Given the description of an element on the screen output the (x, y) to click on. 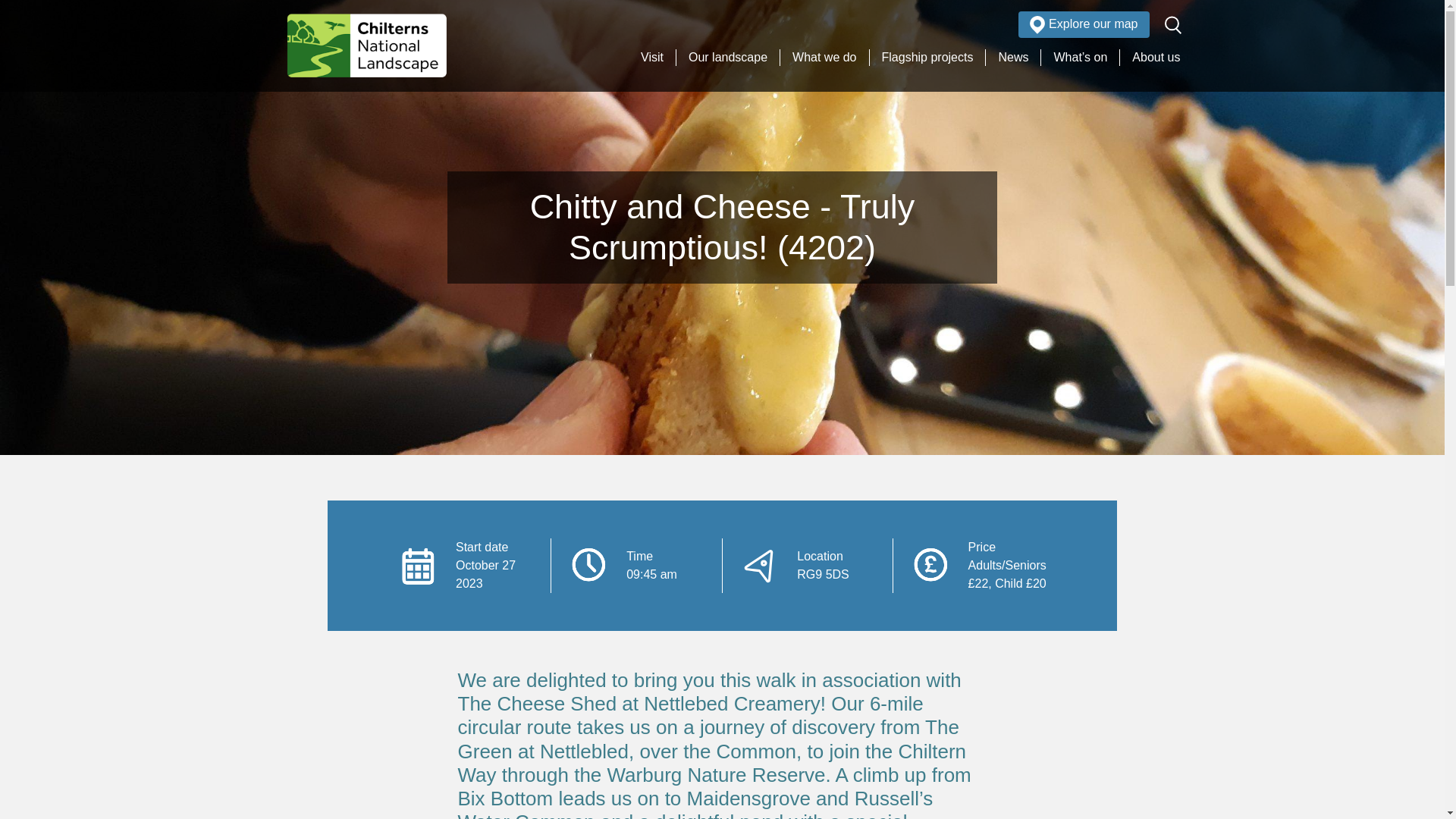
What we do (824, 57)
Explore our map (1082, 24)
Our landscape (727, 57)
Flagship projects (927, 57)
Visit (651, 57)
